Given the description of an element on the screen output the (x, y) to click on. 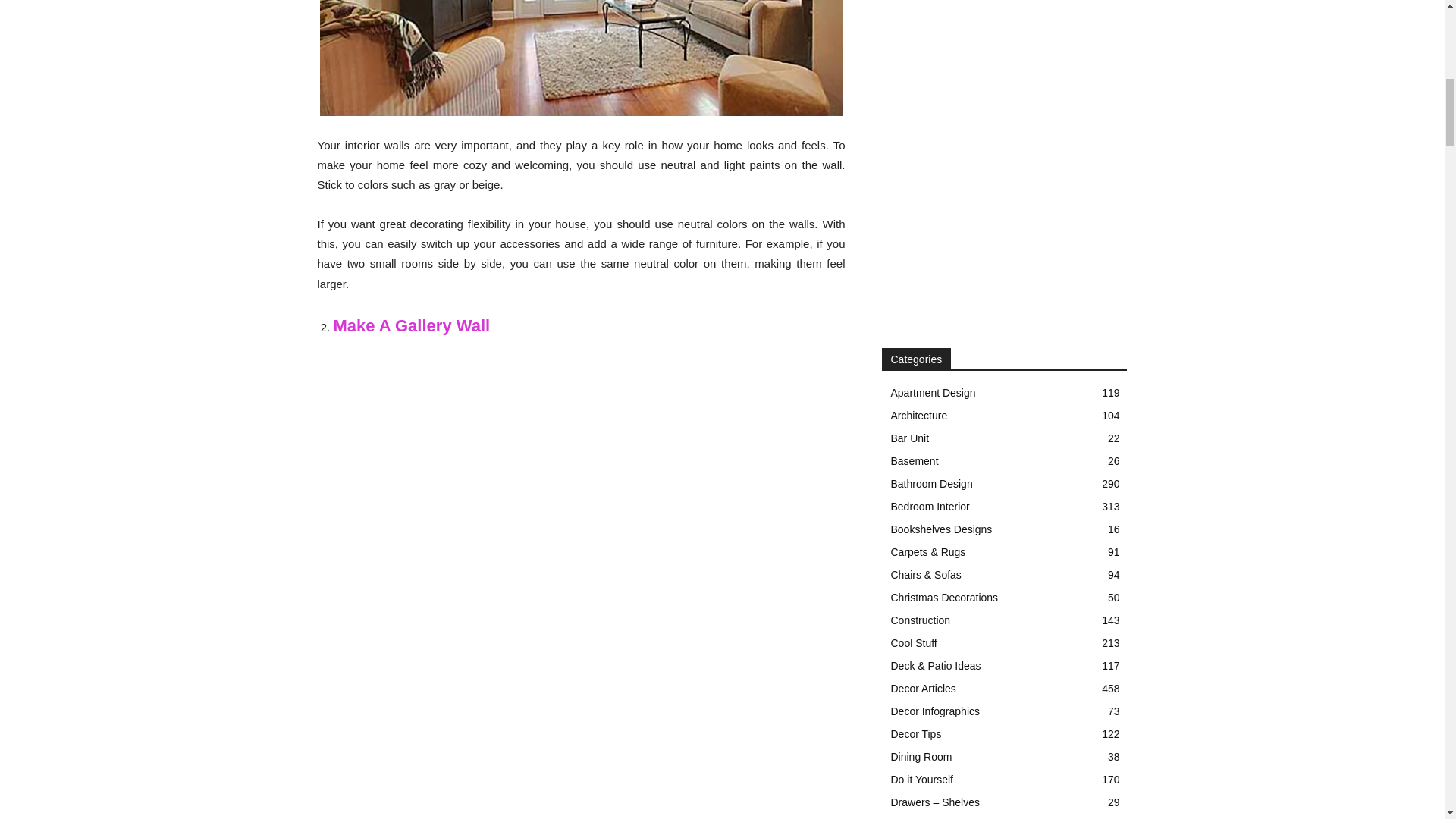
Neutral Colors On The Wall (581, 58)
